Given the description of an element on the screen output the (x, y) to click on. 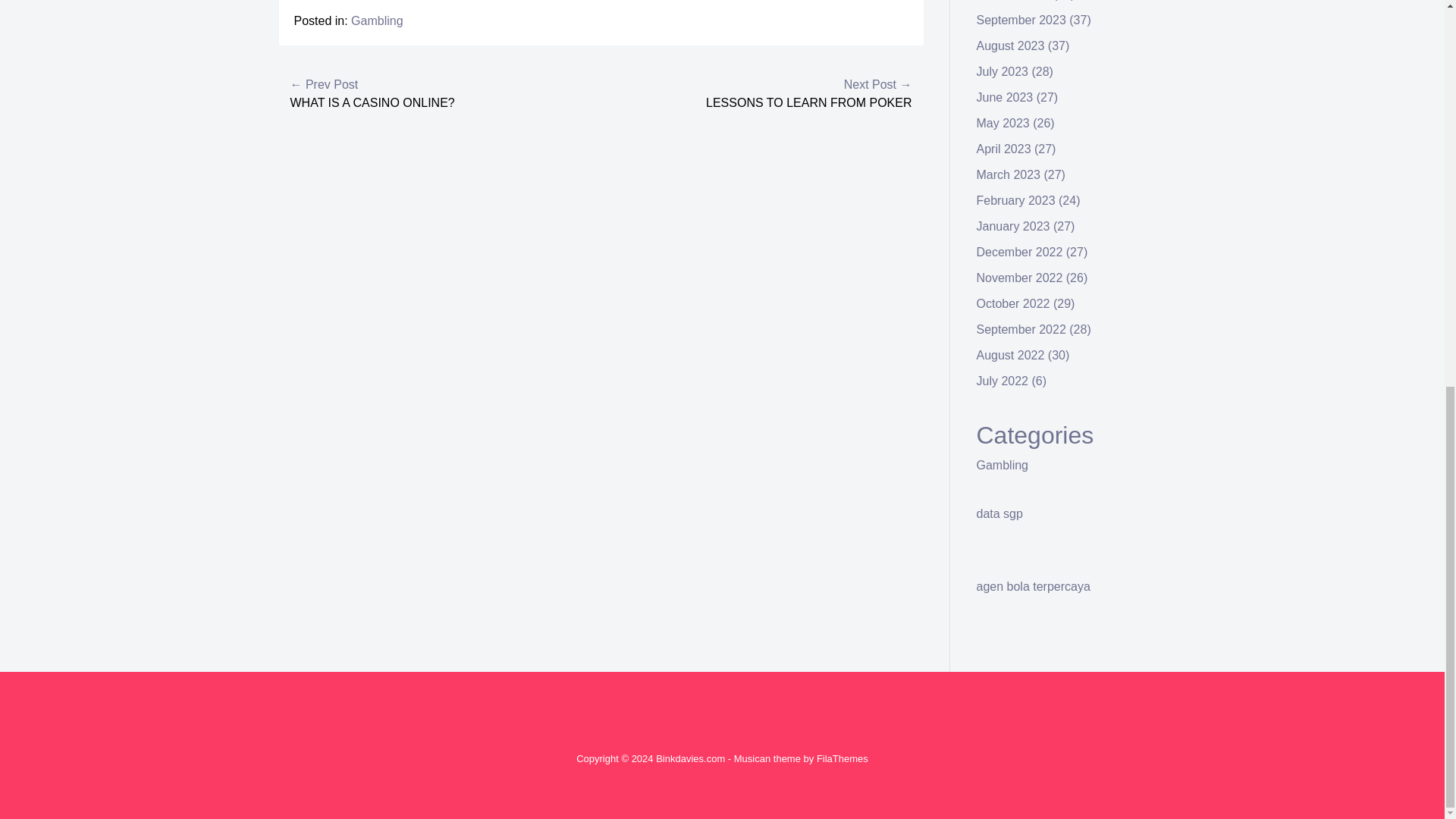
October 2022 (1012, 303)
January 2023 (1012, 226)
December 2022 (1019, 251)
July 2022 (1002, 380)
August 2023 (1010, 45)
Gambling (1001, 464)
June 2023 (1004, 97)
Binkdavies.com (690, 758)
August 2022 (1010, 354)
July 2023 (1002, 71)
